Given the description of an element on the screen output the (x, y) to click on. 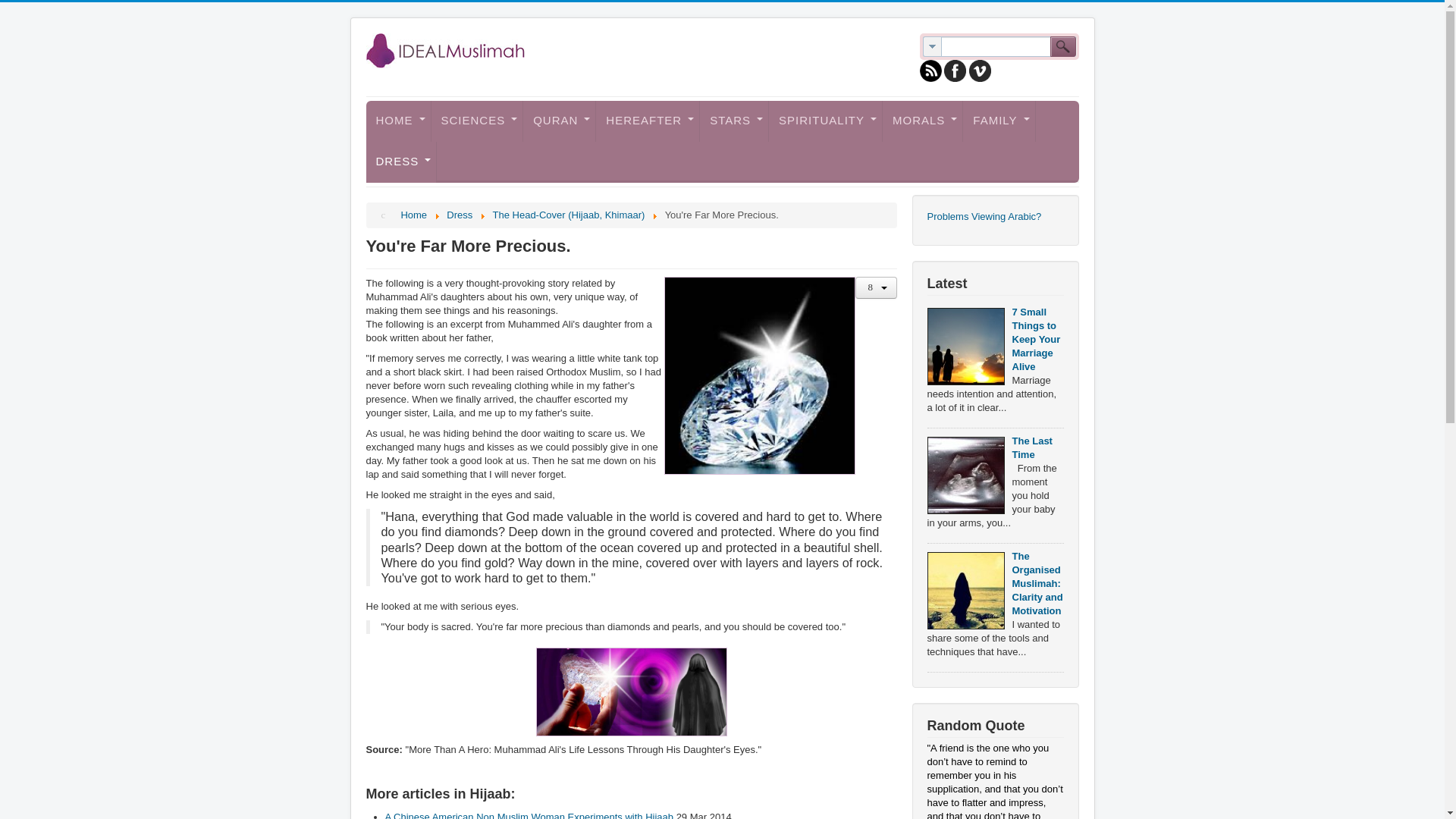
The Last Time (965, 475)
HEREAFTER (647, 120)
HOME (397, 120)
STARS (734, 120)
QURAN (558, 120)
7 Small Things to Keep Your Marriage Alive  (965, 345)
SPIRITUALITY (825, 120)
SCIENCES (476, 120)
The Organised Muslimah: Clarity and Motivation (965, 590)
